Given the description of an element on the screen output the (x, y) to click on. 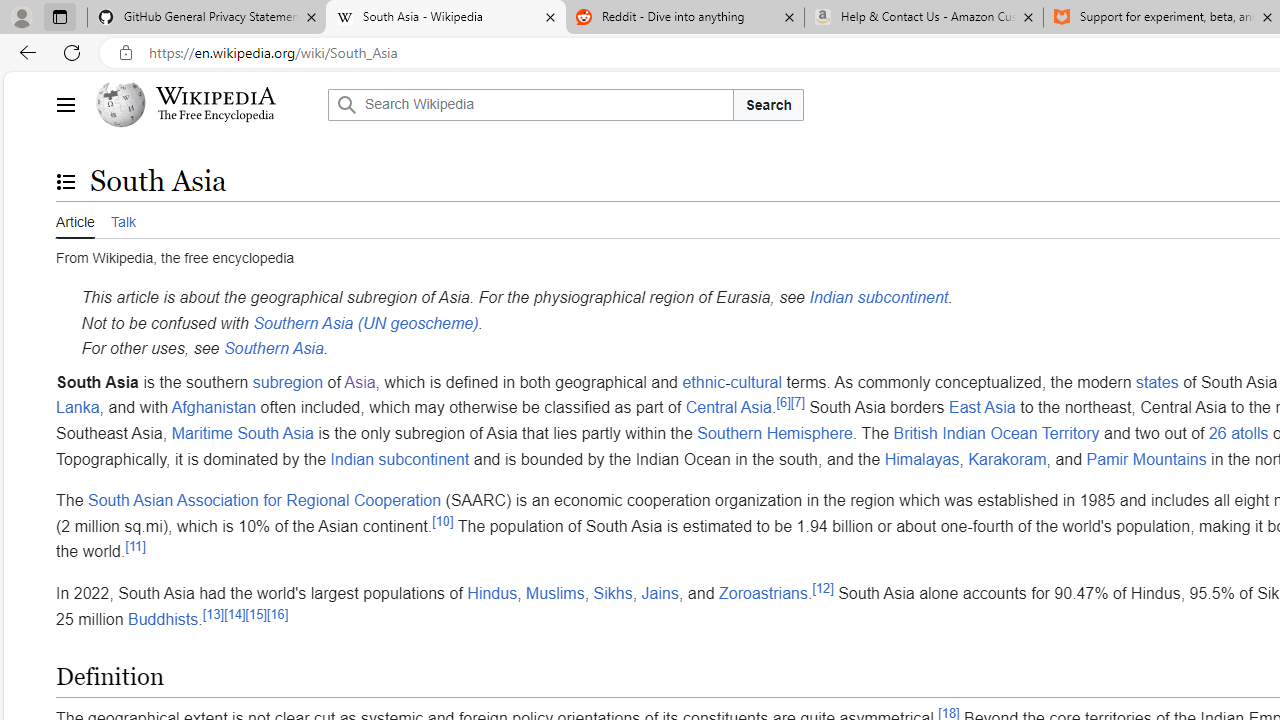
[13] (213, 614)
Zoroastrians (763, 592)
[7] (797, 403)
Toggle the table of contents (65, 181)
Afghanistan (214, 407)
Main menu (65, 104)
Pamir Mountains (1146, 459)
Talk (122, 219)
ethnic (703, 381)
Karakoram (1007, 459)
British Indian Ocean Territory (996, 433)
Central Asia (727, 407)
[16] (277, 614)
